Given the description of an element on the screen output the (x, y) to click on. 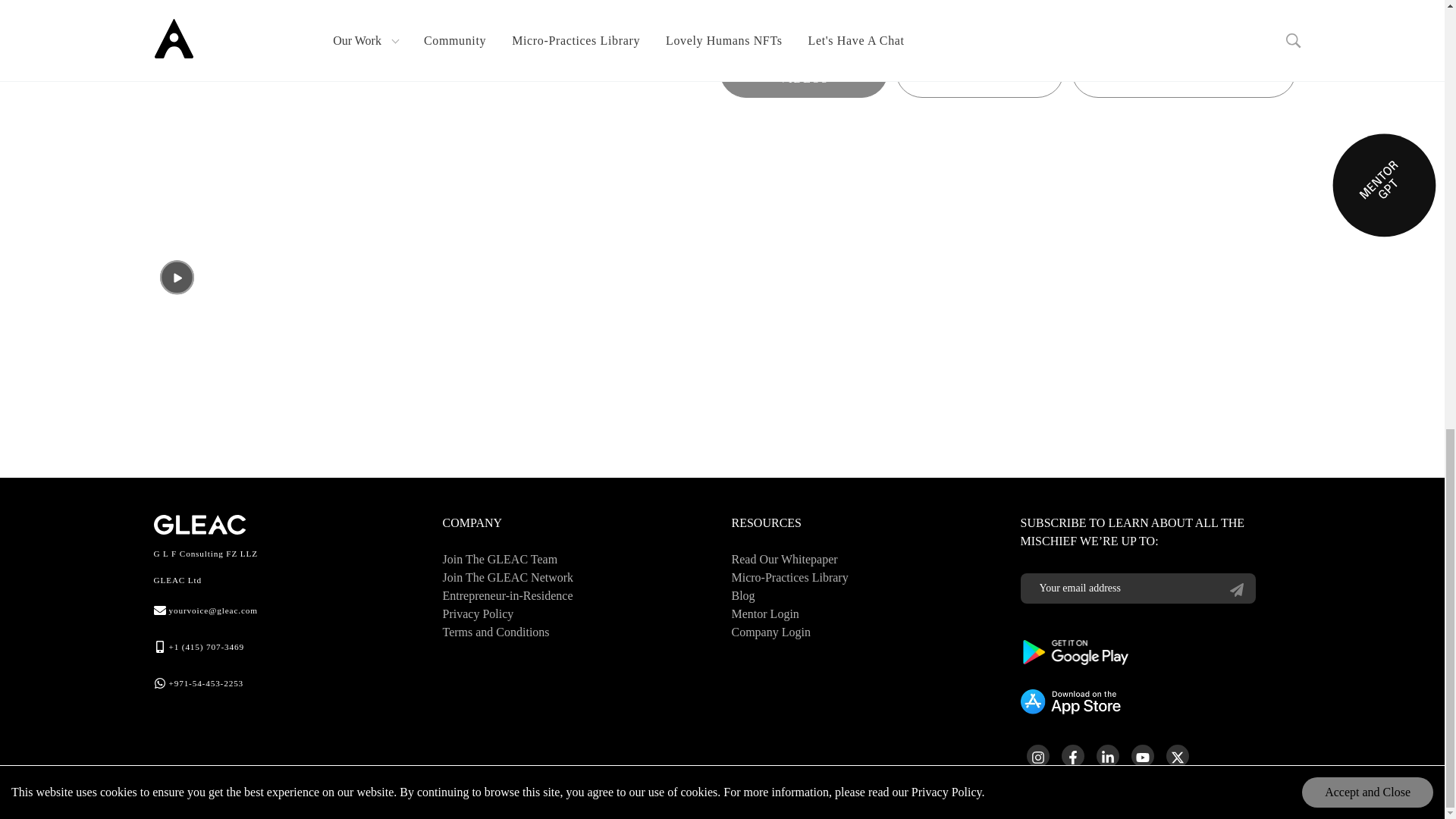
BLOG ARTICLES (979, 71)
LESSONS FROM MENTOR (1183, 71)
Privacy Policy (477, 614)
Blog (742, 596)
Mentor Login (763, 614)
Entrepreneur-in-Residence (507, 596)
Company Login (769, 632)
Read Our Whitepaper (783, 559)
TALK SHOW VIDEOS (803, 71)
Join The GLEAC Team (499, 559)
